Given the description of an element on the screen output the (x, y) to click on. 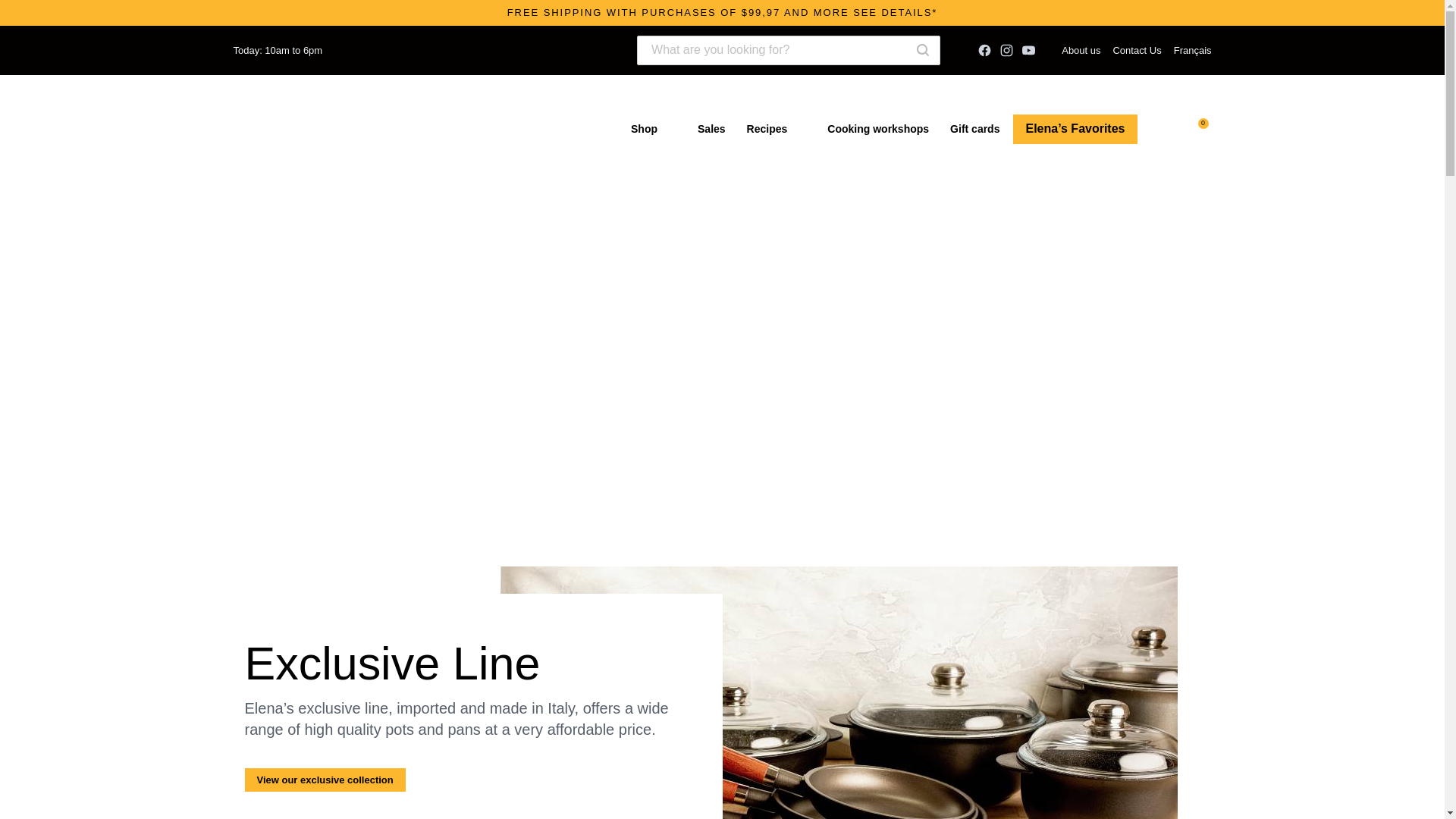
Shop (653, 128)
About us (1080, 49)
Contact Us (1136, 49)
Quincaillerie Dante (263, 129)
